Given the description of an element on the screen output the (x, y) to click on. 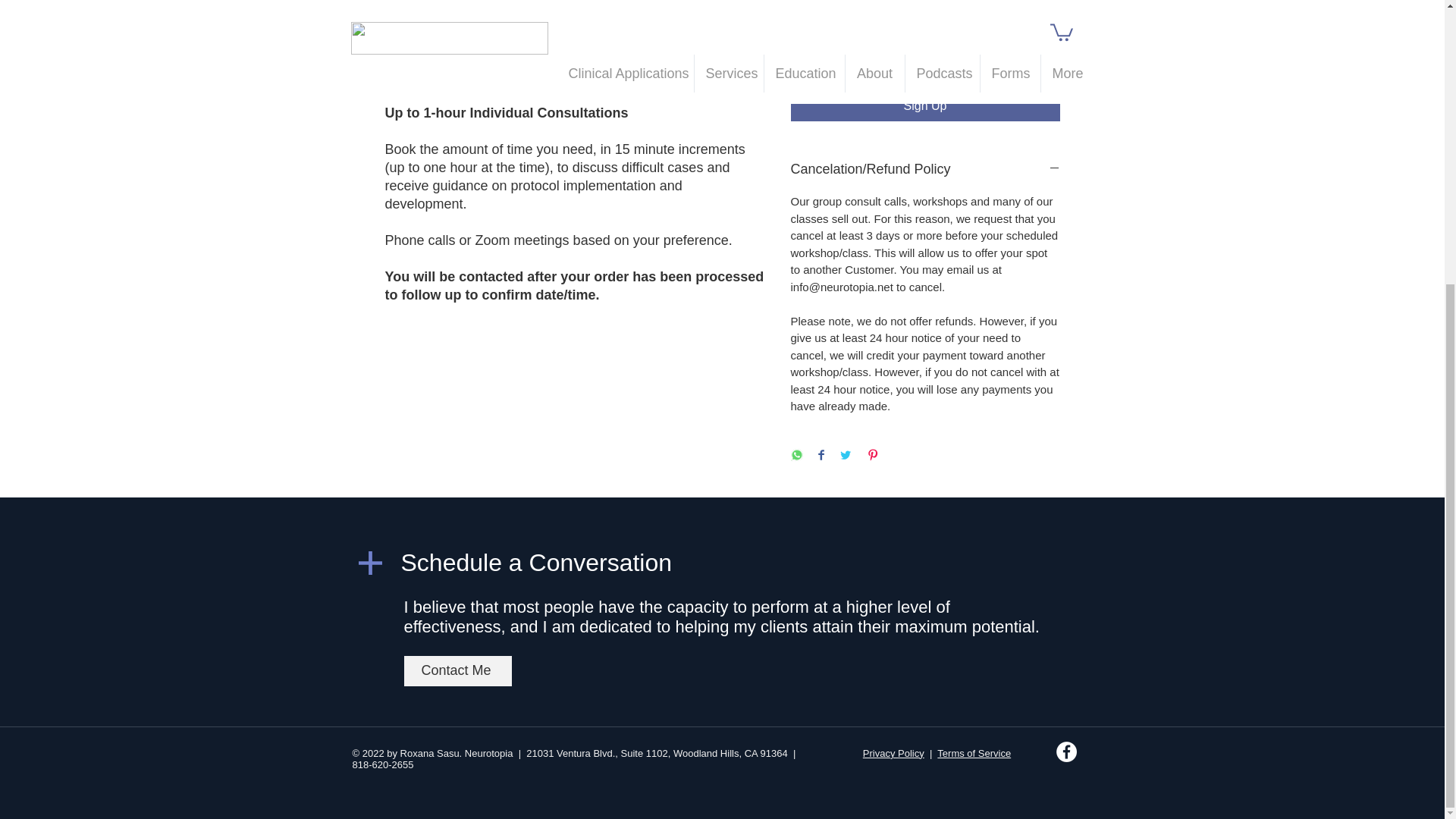
Privacy Policy (893, 753)
Sign Up (924, 105)
1 (818, 51)
Contact Me (457, 671)
Terms of Service (973, 753)
